Given the description of an element on the screen output the (x, y) to click on. 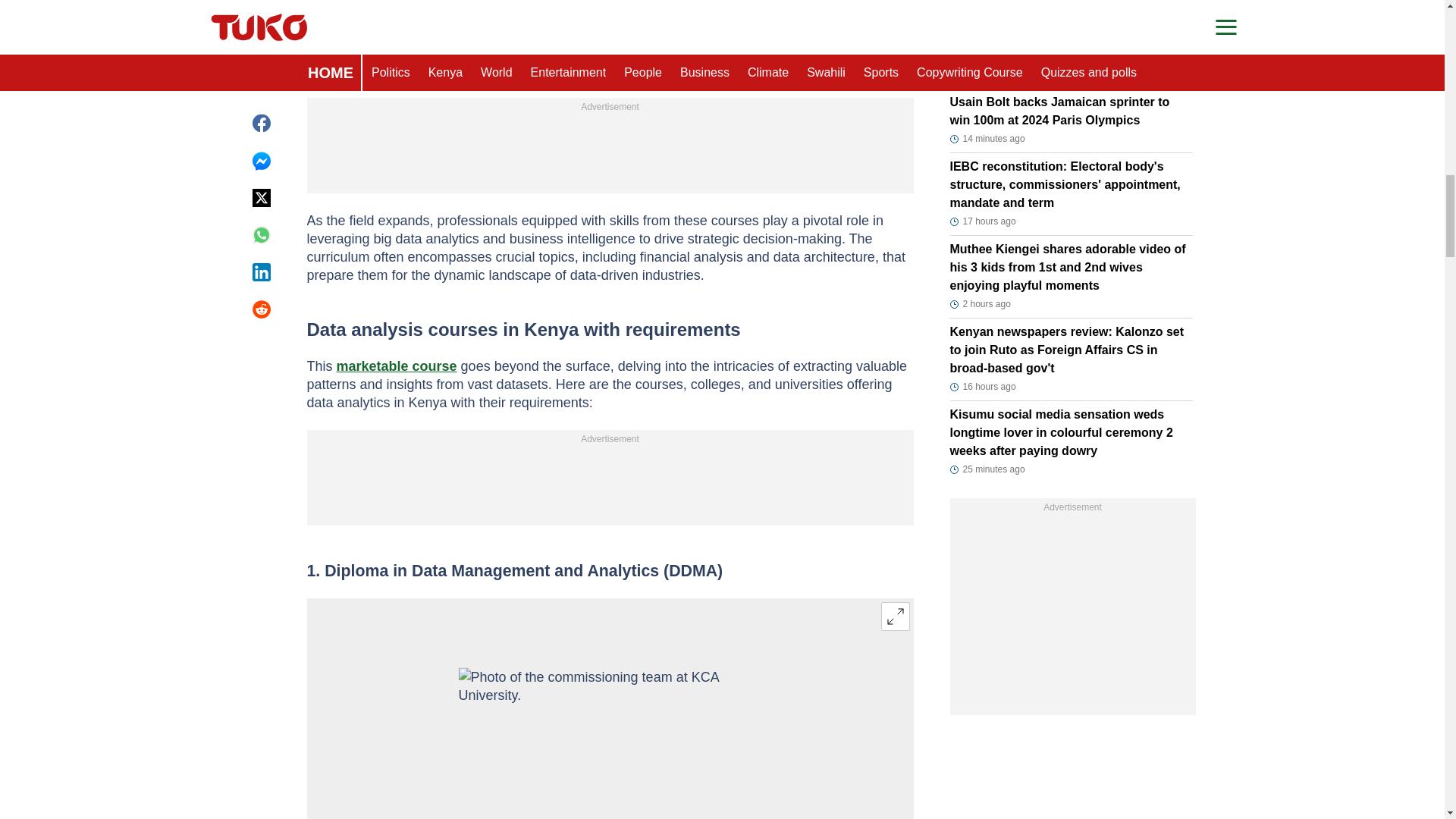
Photo of the commissioning team at KCA University. (609, 743)
Expand image (895, 615)
